Given the description of an element on the screen output the (x, y) to click on. 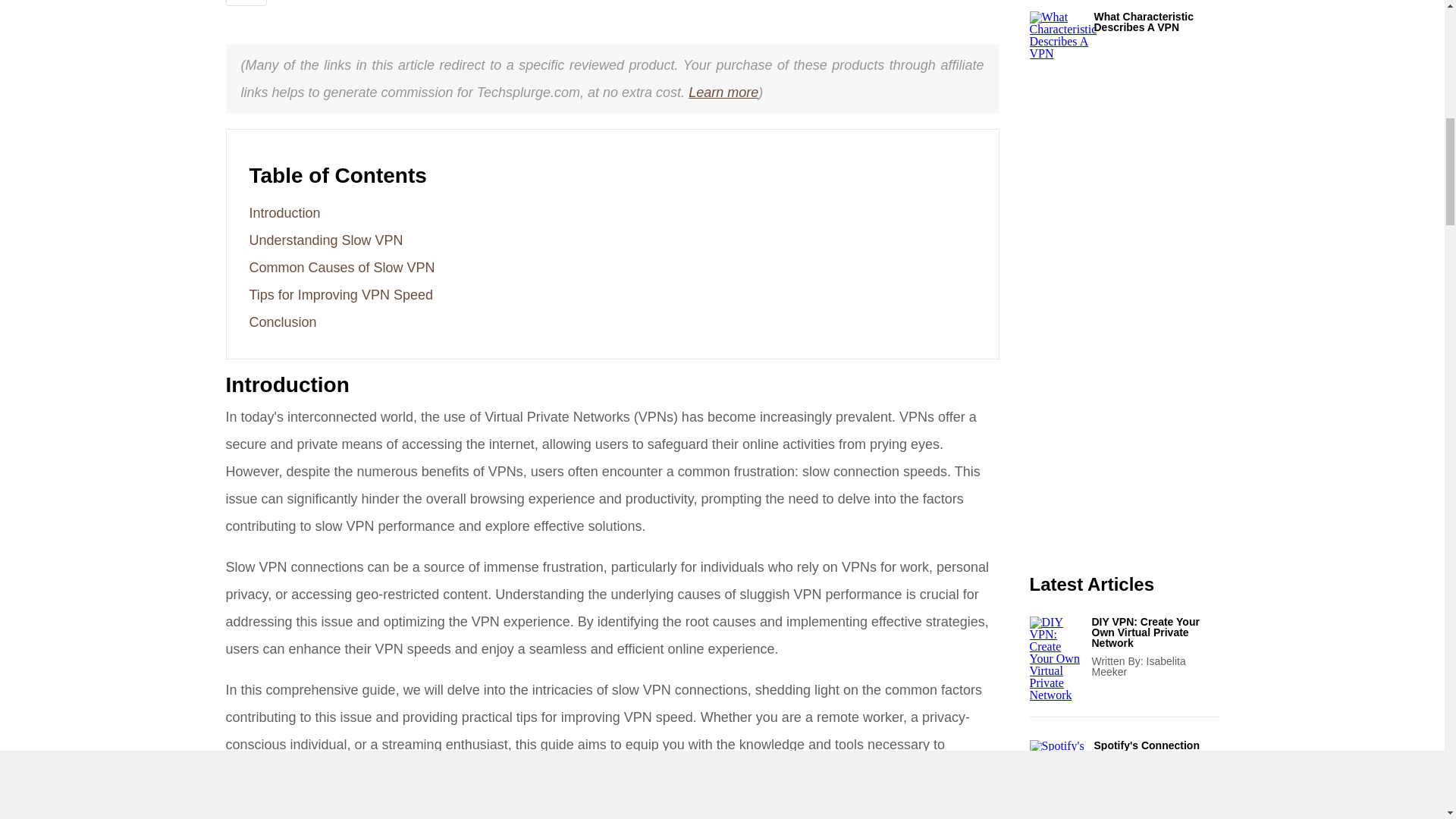
Learn more (723, 92)
Tips for Improving VPN Speed (340, 294)
Introduction (284, 212)
Understanding Slow VPN (325, 240)
Conclusion (281, 322)
Common Causes of Slow VPN (340, 267)
